Given the description of an element on the screen output the (x, y) to click on. 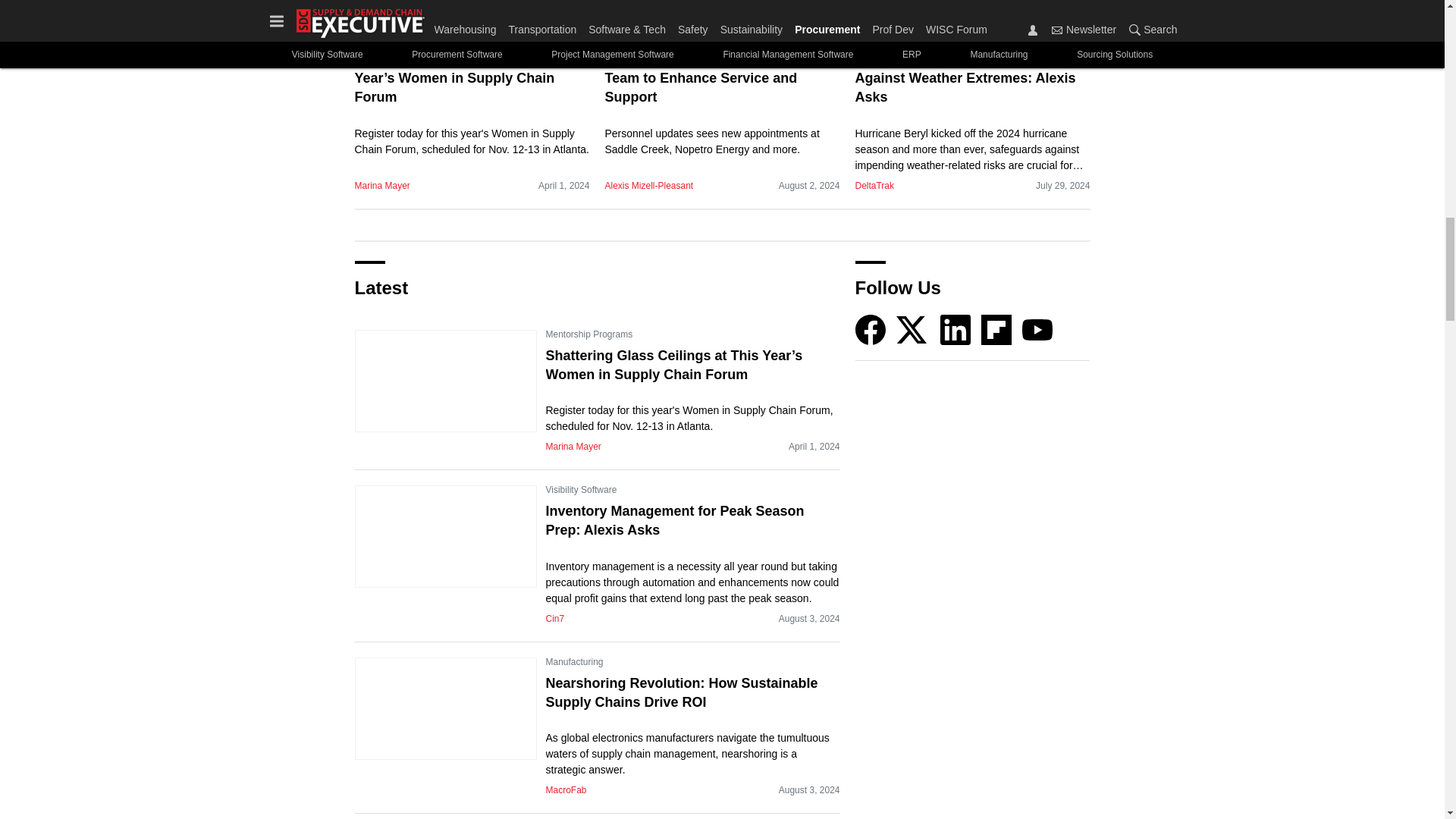
Twitter X icon (911, 329)
Facebook icon (870, 329)
LinkedIn icon (955, 329)
Flipboard icon (996, 329)
YouTube icon (1037, 329)
